Given the description of an element on the screen output the (x, y) to click on. 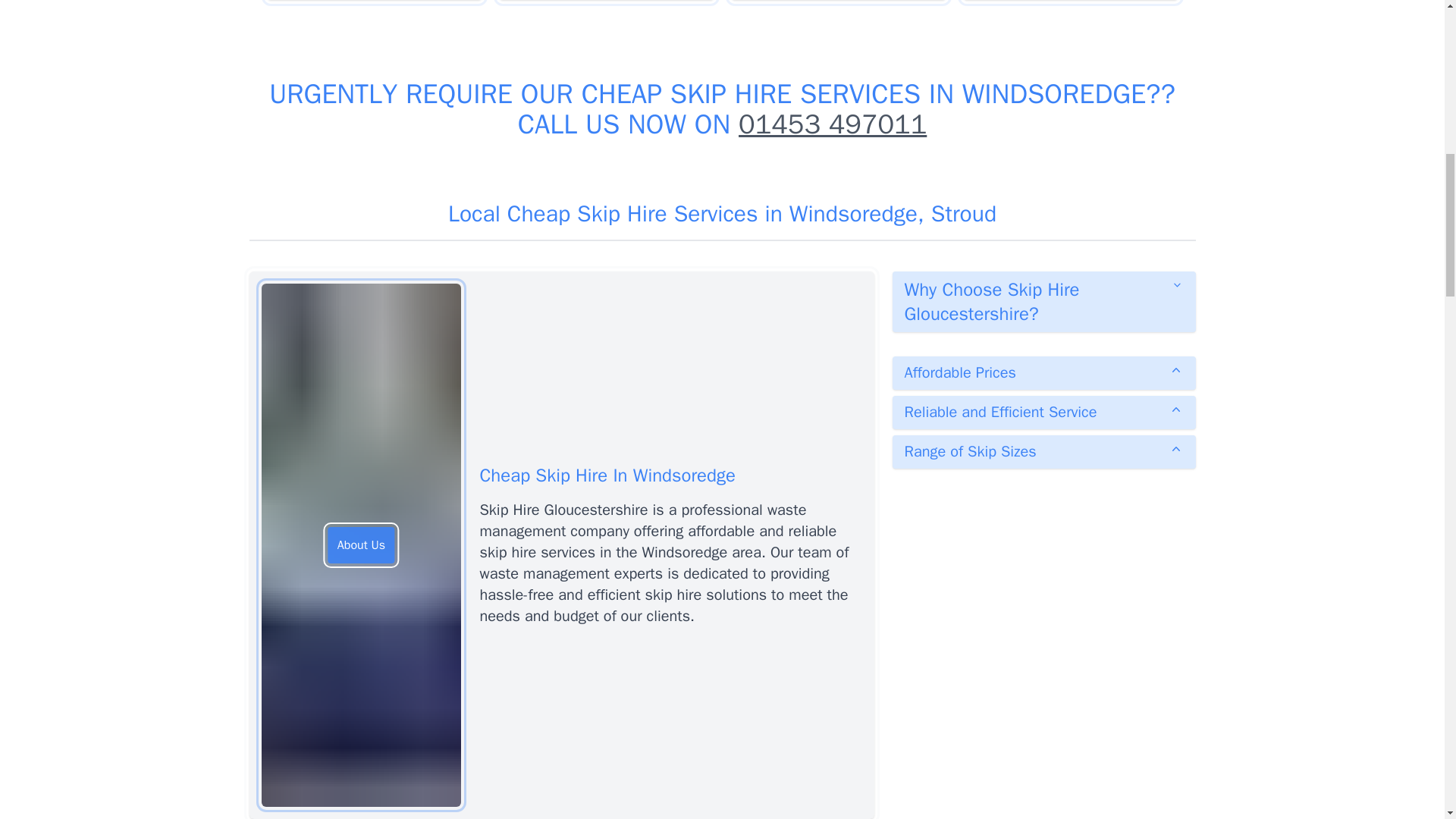
Why Choose Skip Hire Gloucestershire? (1043, 301)
01453 497011 (832, 124)
About Us (361, 545)
Reliable and Efficient Service (1043, 412)
Range of Skip Sizes (1043, 451)
Affordable Prices (1043, 372)
